Given the description of an element on the screen output the (x, y) to click on. 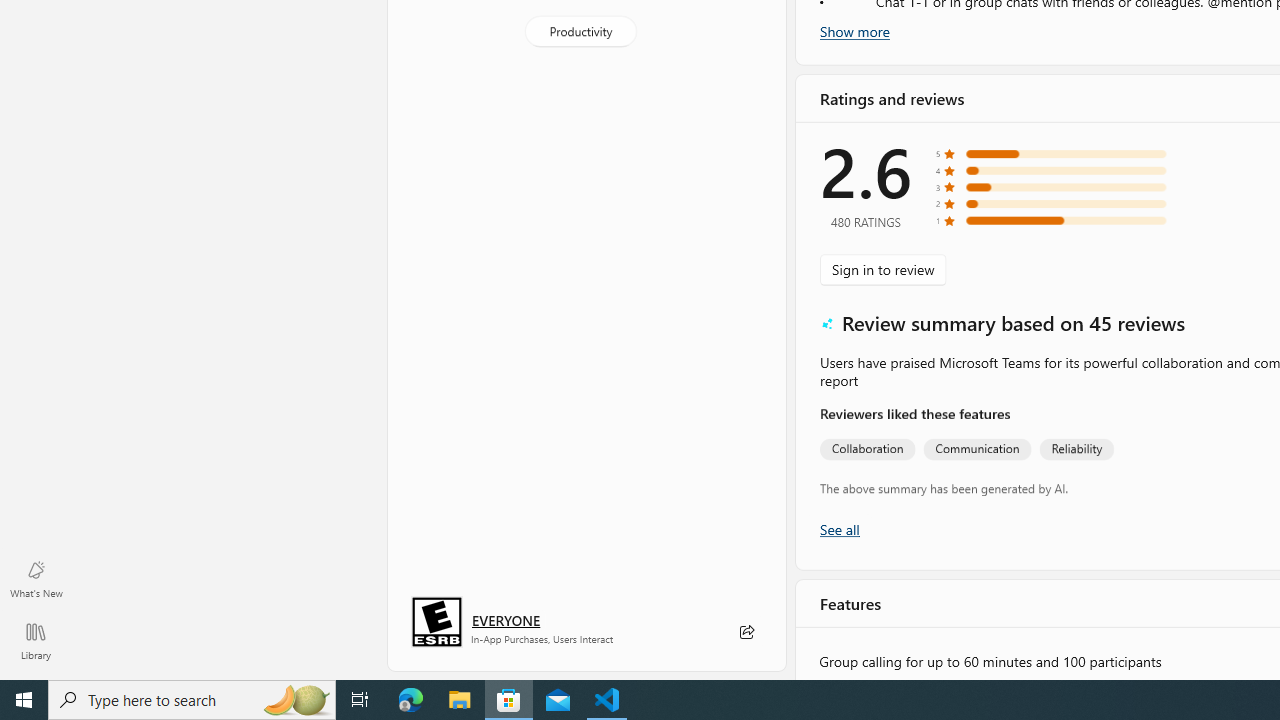
Share (746, 632)
Sign in to review (882, 269)
Show more (854, 31)
Show all ratings and reviews (838, 529)
Productivity (579, 30)
Age rating: EVERYONE. Click for more information. (506, 619)
